Given the description of an element on the screen output the (x, y) to click on. 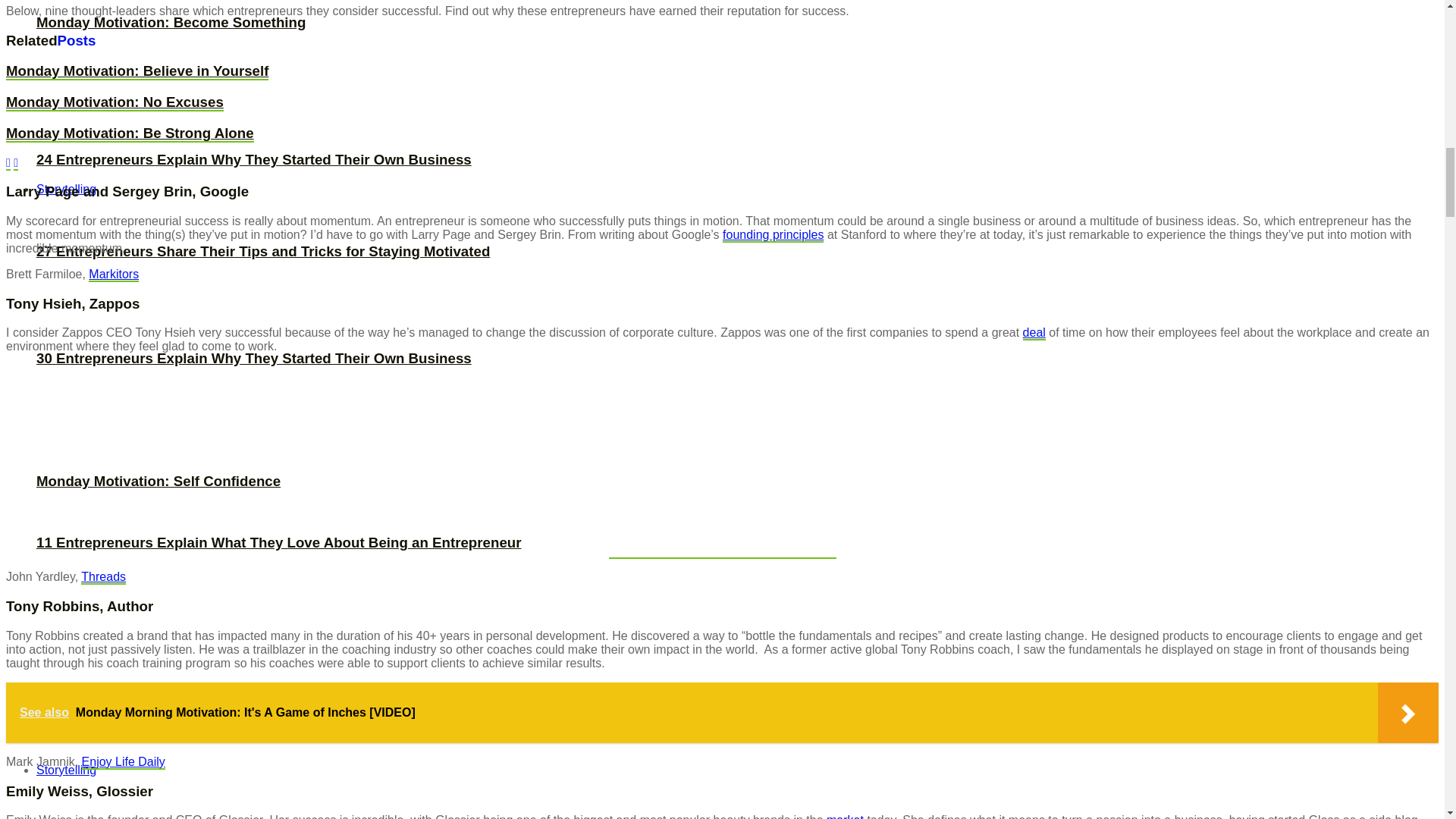
Next (15, 163)
Previous (7, 163)
Storytelling (66, 188)
CEO Hacks - Sales (1034, 332)
30 Entrepreneurs Explain Why They Started Their Own Business (253, 358)
24 Entrepreneurs Explain Why They Started Their Own Business (253, 159)
